Given the description of an element on the screen output the (x, y) to click on. 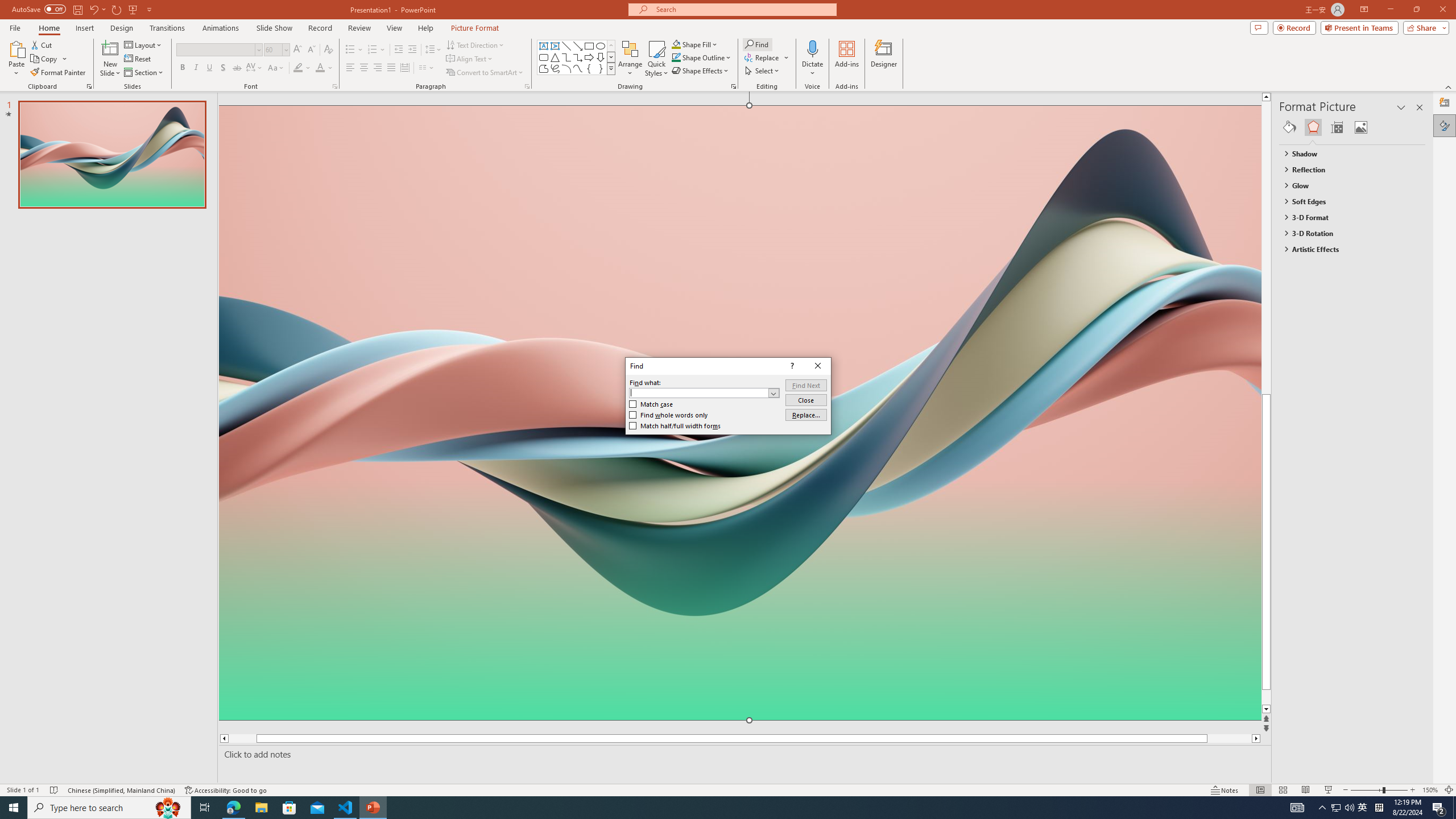
Find whole words only (668, 414)
Fill & Line (1288, 126)
Vertical Text Box (554, 45)
Class: NetUIScrollBar (1420, 460)
Paragraph... (526, 85)
Shadow (223, 67)
